Given the description of an element on the screen output the (x, y) to click on. 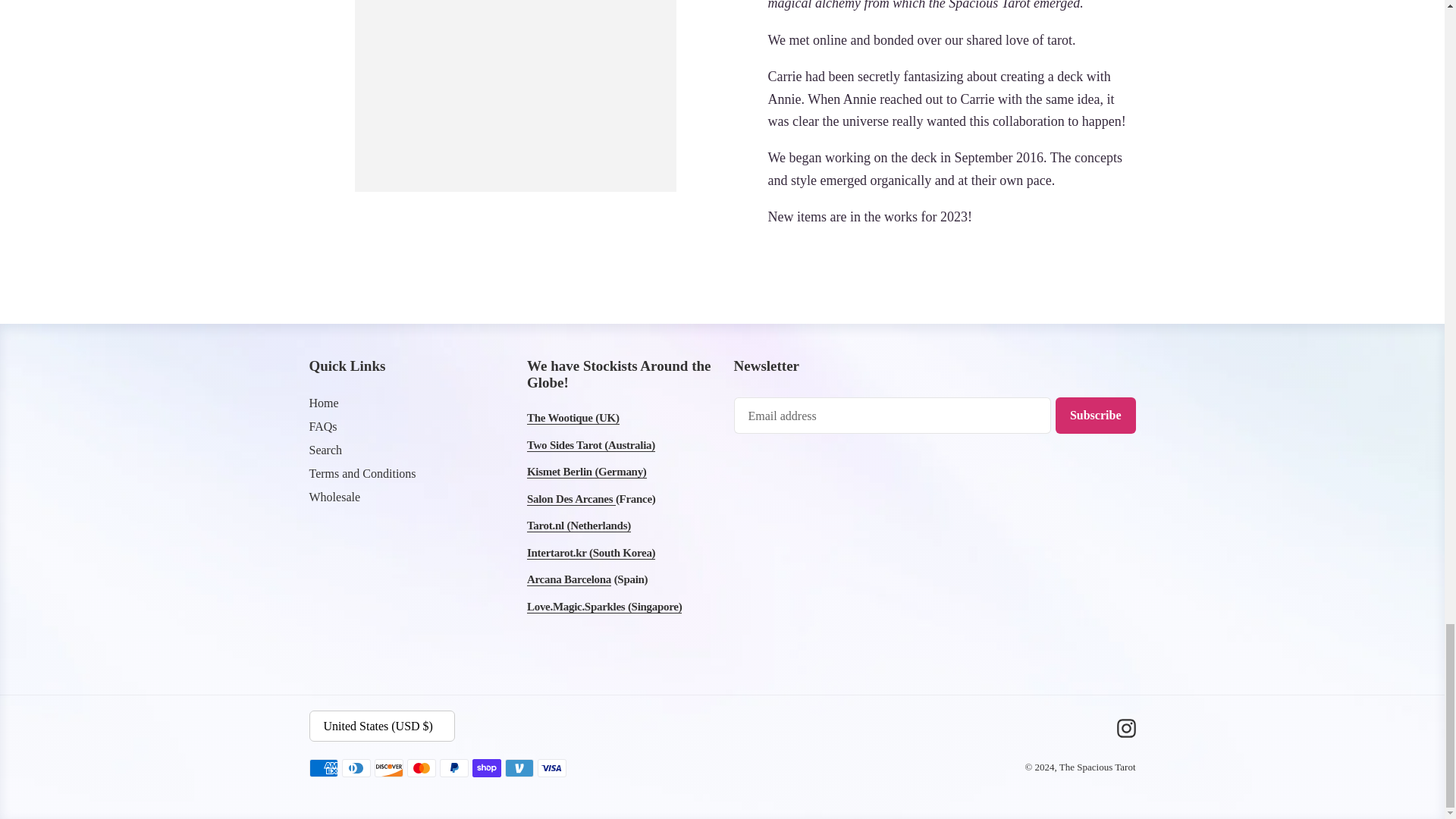
Tarot.nl (578, 525)
Kismet Berlin (586, 472)
Salon Des Arcanes (571, 499)
The Wootique (573, 418)
Two Sides Tarot (591, 445)
Intertarot.kr (591, 553)
